Given the description of an element on the screen output the (x, y) to click on. 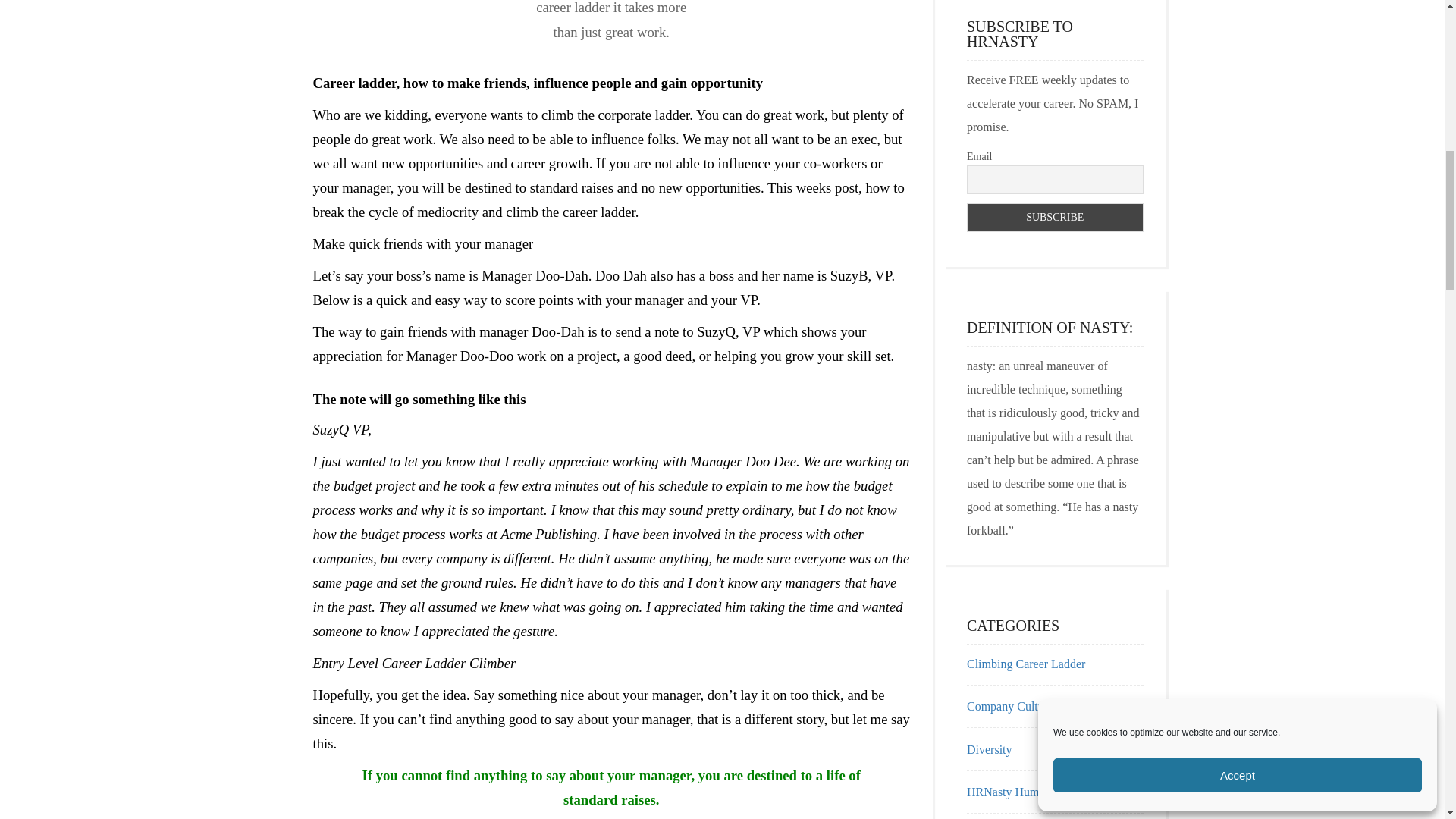
Subscribe (1054, 217)
